Given the description of an element on the screen output the (x, y) to click on. 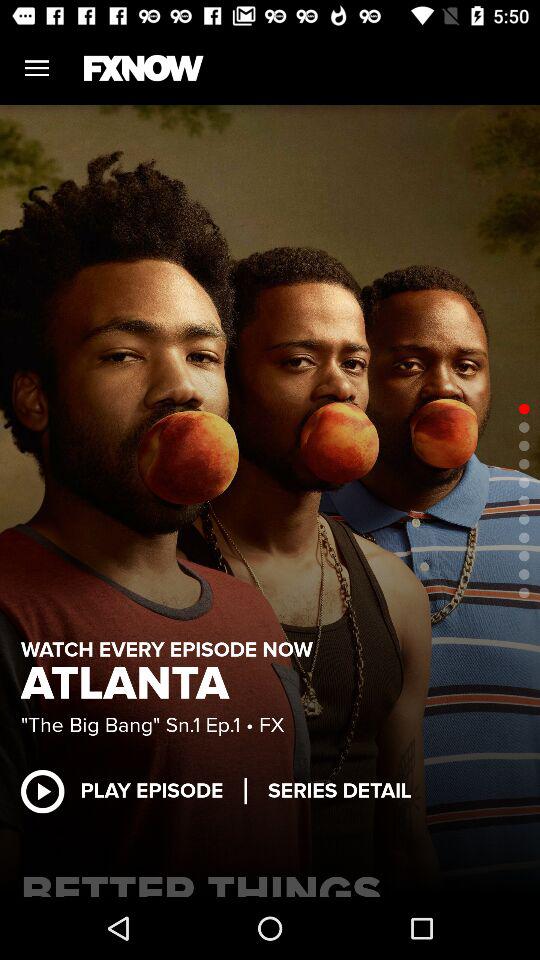
flip to atlanta (131, 683)
